Given the description of an element on the screen output the (x, y) to click on. 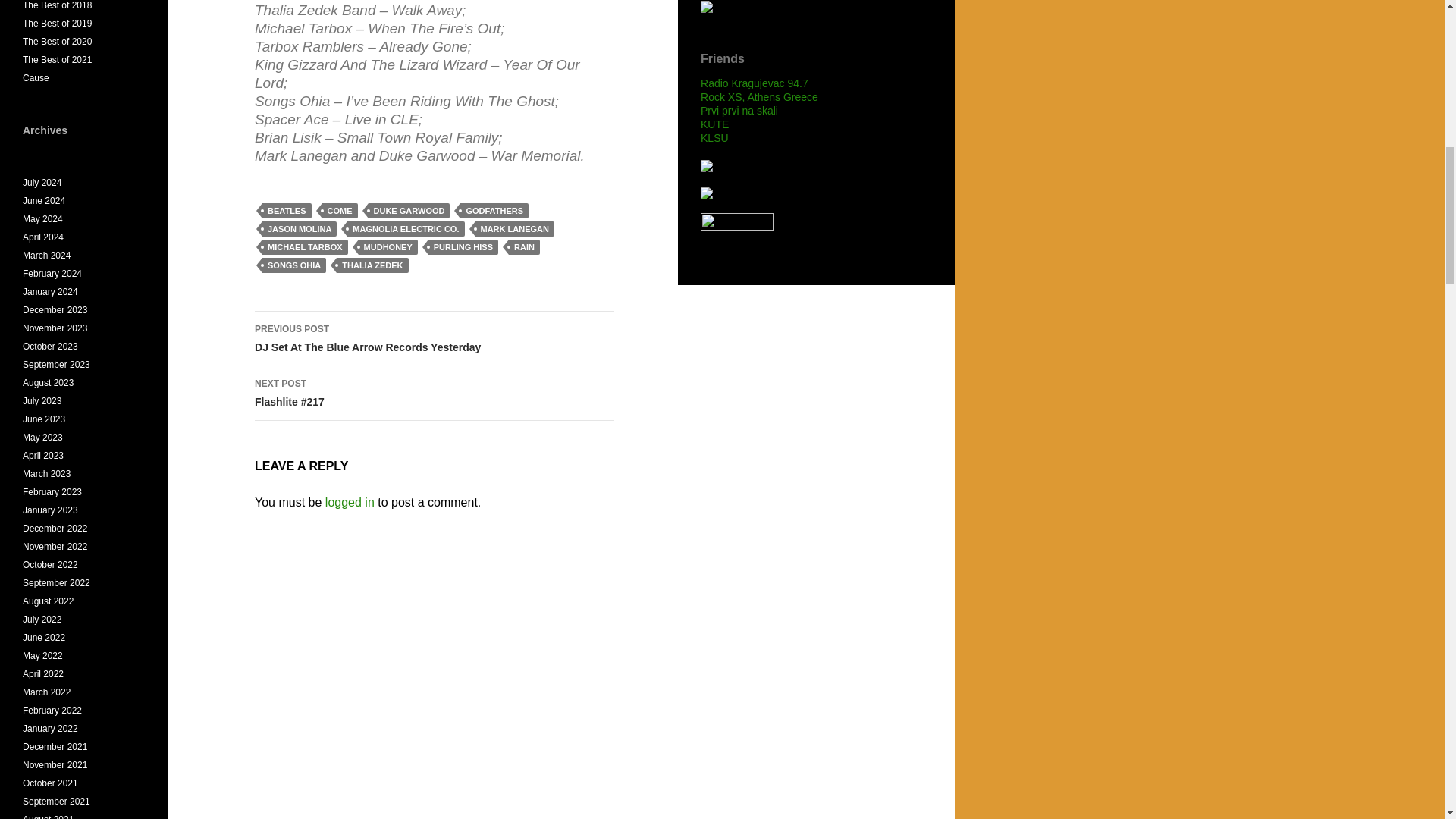
COME (339, 210)
MAGNOLIA ELECTRIC CO. (405, 228)
MICHAEL TARBOX (304, 246)
MARK LANEGAN (434, 339)
BEATLES (513, 228)
logged in (286, 210)
THALIA ZEDEK (349, 502)
PURLING HISS (371, 264)
MUDHONEY (462, 246)
RAIN (387, 246)
SONGS OHIA (524, 246)
JASON MOLINA (294, 264)
GODFATHERS (299, 228)
DUKE GARWOOD (494, 210)
